Given the description of an element on the screen output the (x, y) to click on. 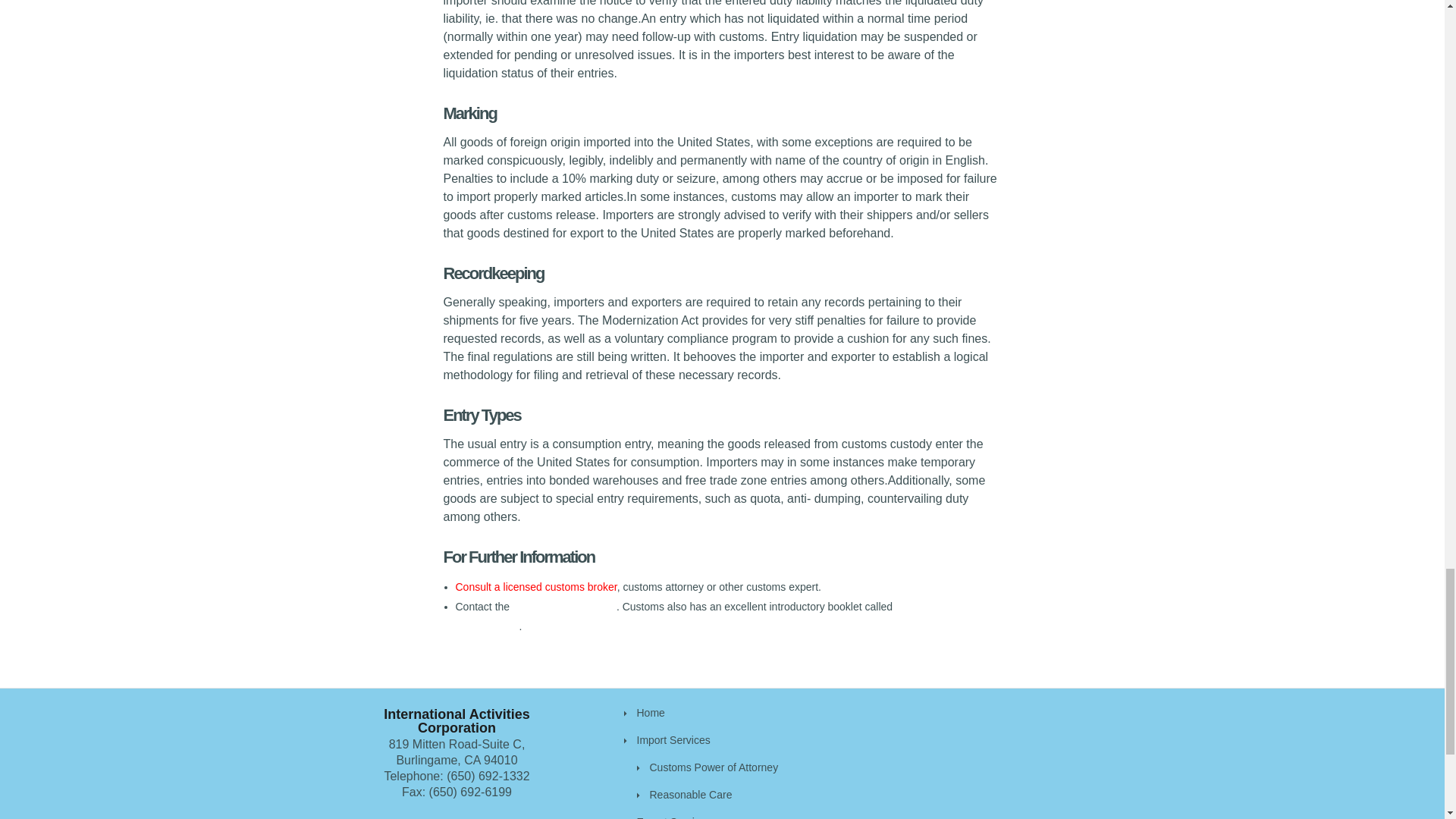
Importing Into The United States (717, 616)
Reasonable Care (690, 794)
Import Services (673, 739)
Home (651, 712)
Customs Power of Attorney (713, 767)
U.S. Customs Service (563, 606)
Export Services (674, 817)
